Given the description of an element on the screen output the (x, y) to click on. 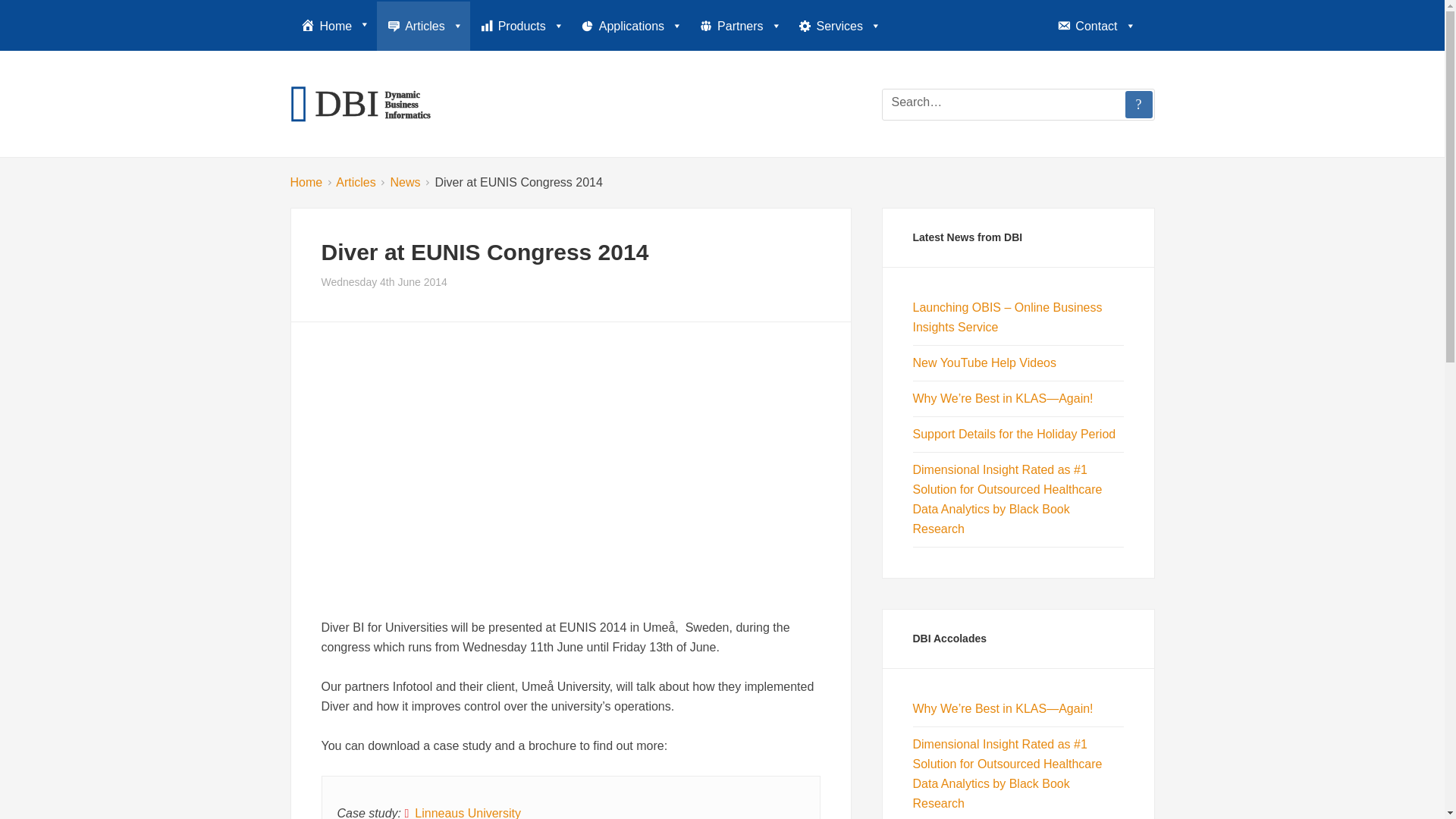
Home (333, 25)
Articles (422, 25)
Applications (629, 25)
DBI (359, 103)
Products (520, 25)
? (1139, 103)
? (1139, 103)
